Given the description of an element on the screen output the (x, y) to click on. 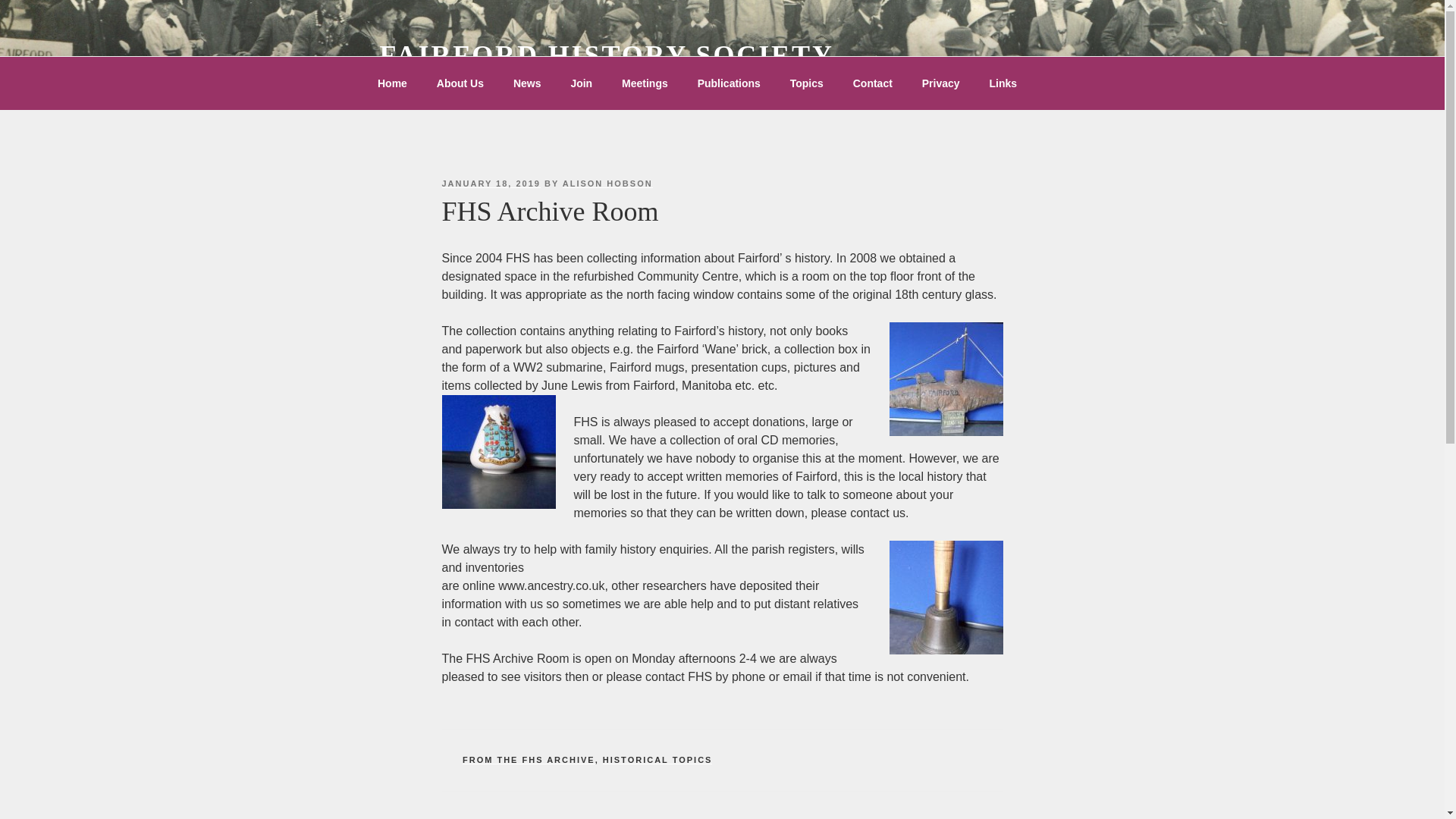
FROM THE FHS ARCHIVE (529, 759)
Home (392, 83)
Publications (728, 83)
JANUARY 18, 2019 (490, 183)
About Us (459, 83)
News (526, 83)
Join (581, 83)
Links (1002, 83)
Meetings (644, 83)
Topics (805, 83)
